Given the description of an element on the screen output the (x, y) to click on. 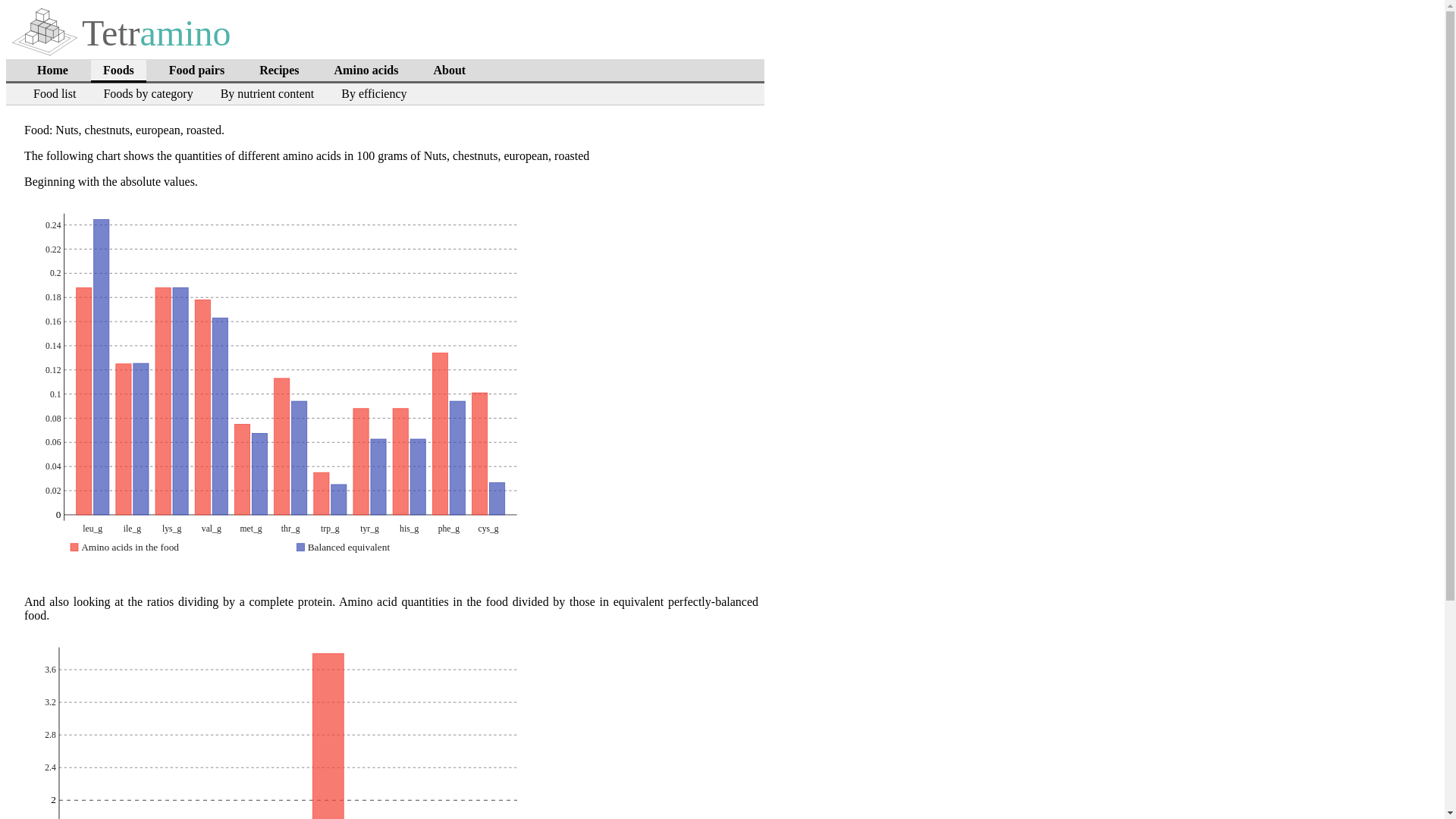
Food pairs (196, 69)
Home (52, 69)
Foods (118, 70)
By nutrient content (267, 93)
Foods by category (148, 93)
Recipes (279, 69)
Food list (54, 93)
About (448, 69)
Amino acids (365, 69)
By efficiency (372, 93)
